Given the description of an element on the screen output the (x, y) to click on. 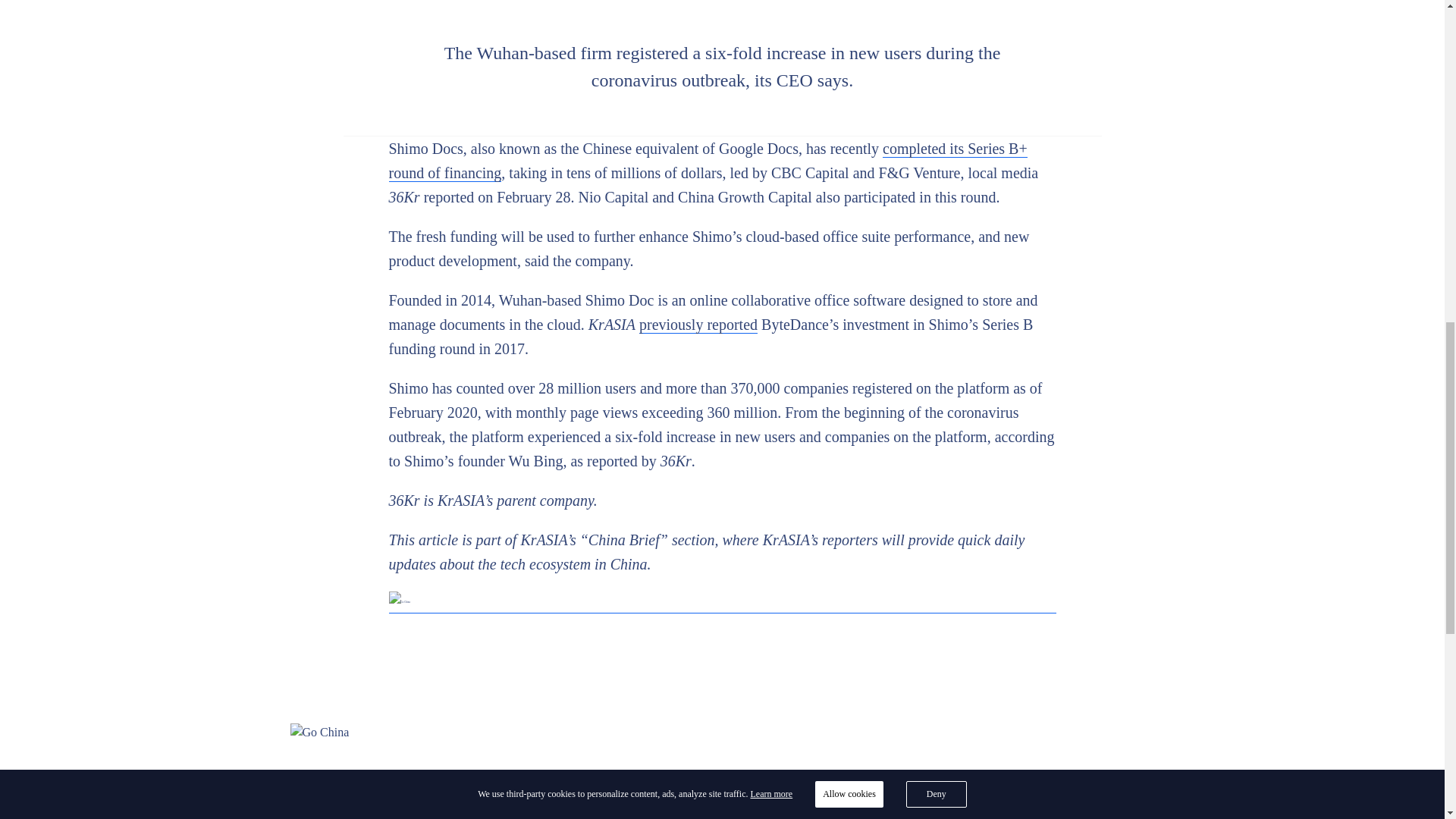
previously reported (698, 324)
Go China (721, 732)
Go China (721, 602)
